Given the description of an element on the screen output the (x, y) to click on. 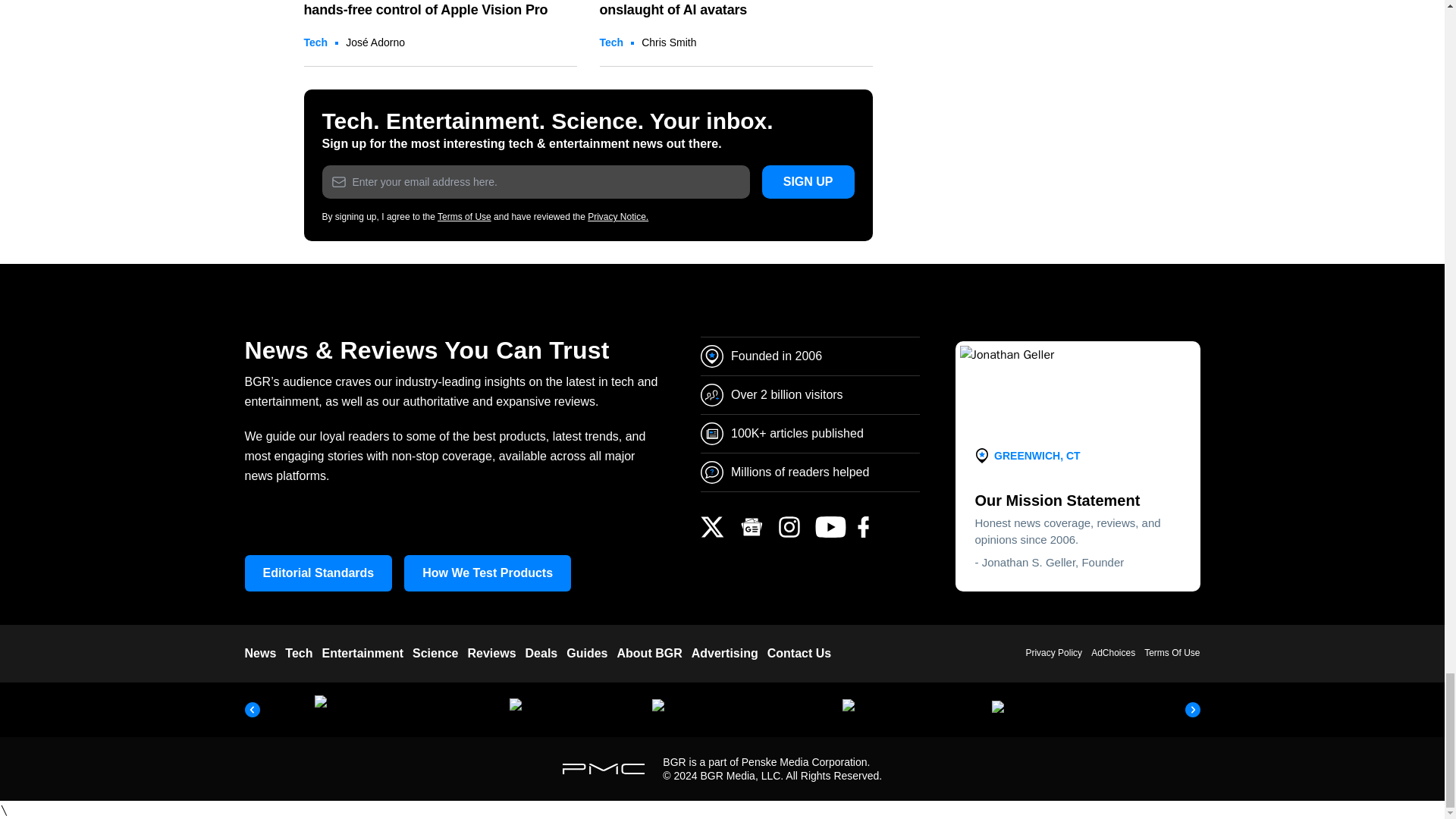
Posts by Chris Smith (668, 42)
